Given the description of an element on the screen output the (x, y) to click on. 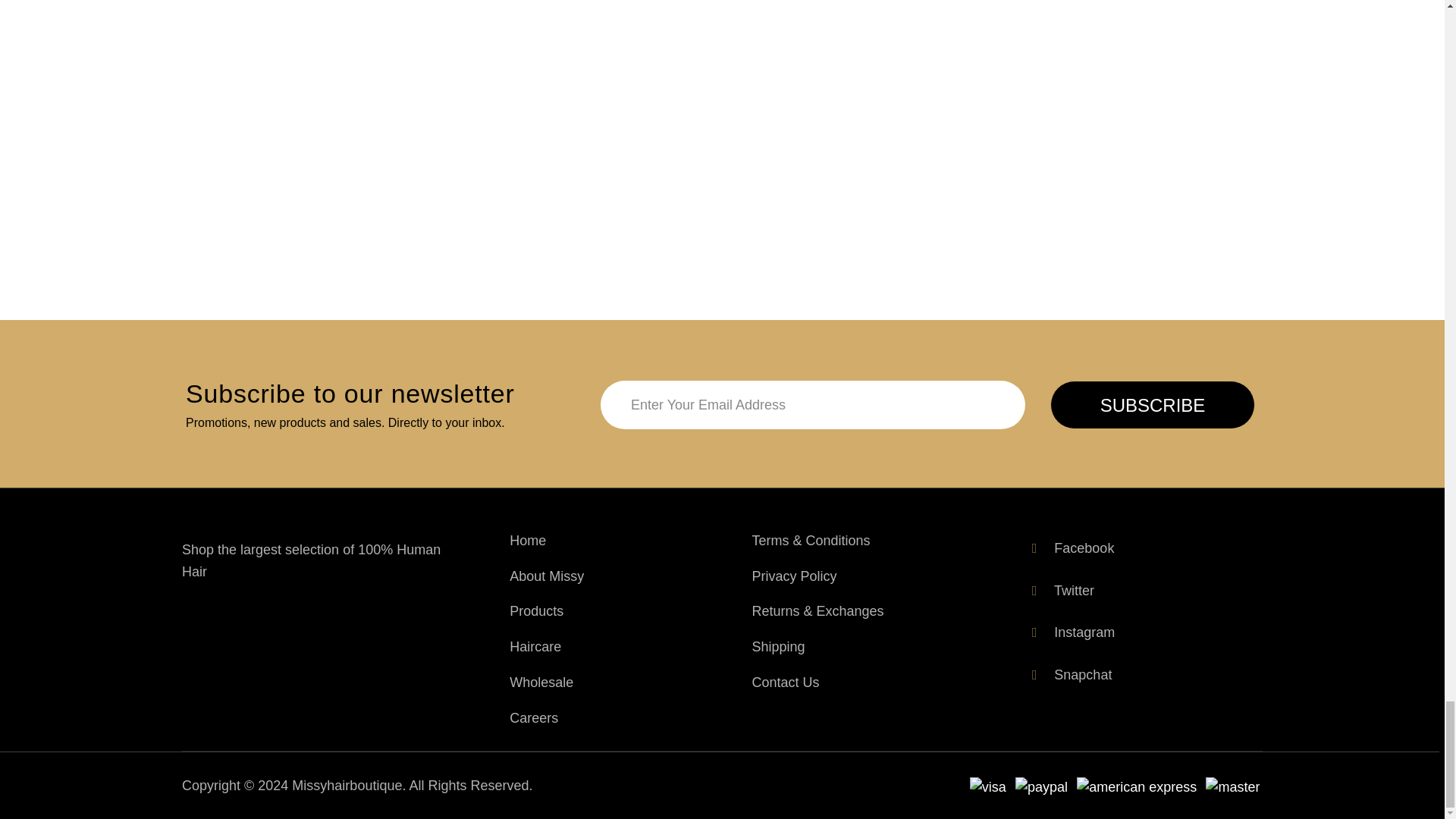
Missyhairboutique on Instagram (1070, 632)
Missyhairboutique on Twitter (1060, 590)
Missyhairboutique on Facebook (1070, 548)
Subscribe (1152, 404)
